Given the description of an element on the screen output the (x, y) to click on. 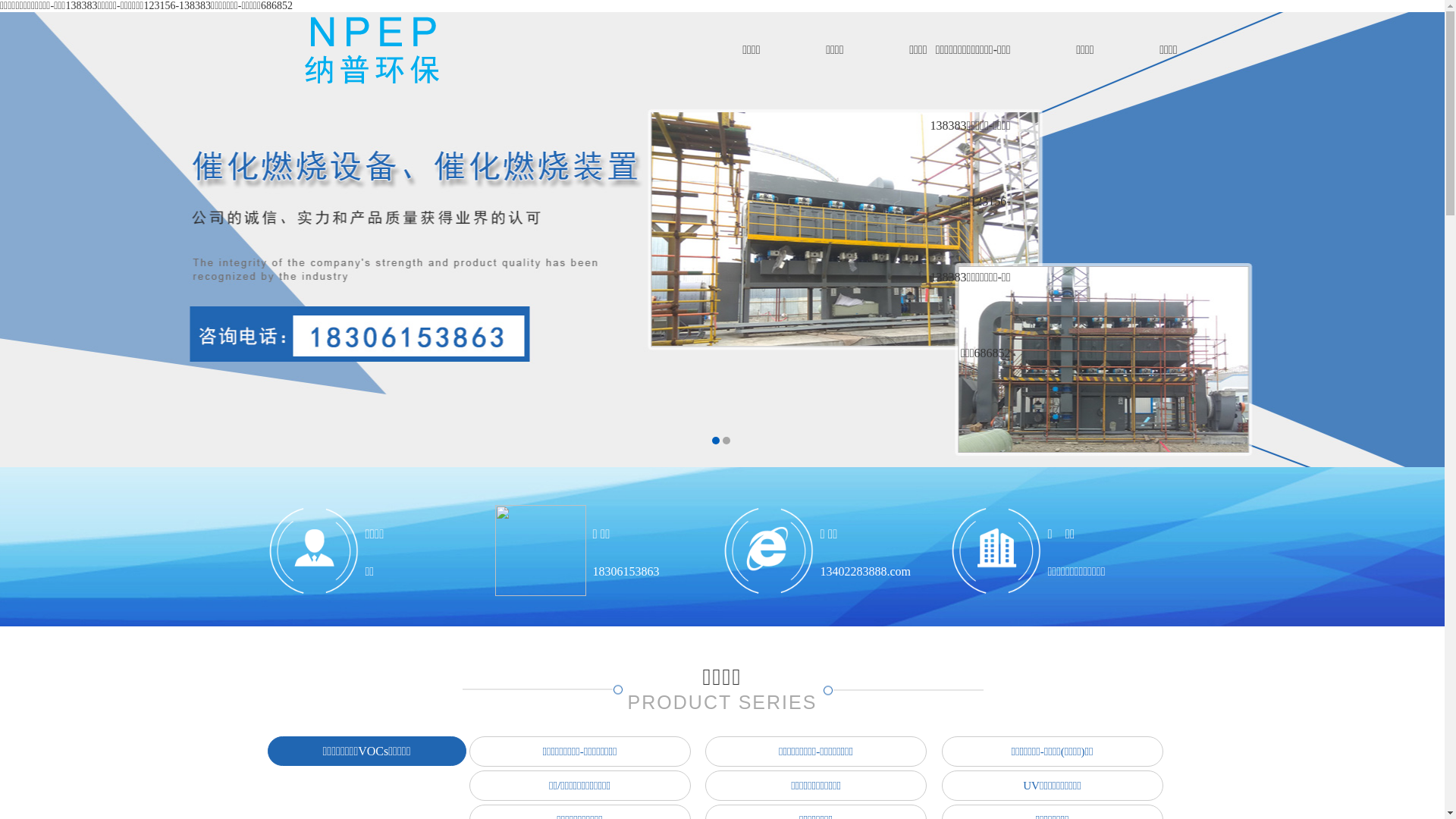
1 Element type: text (714, 440)
2 Element type: text (725, 440)
